Given the description of an element on the screen output the (x, y) to click on. 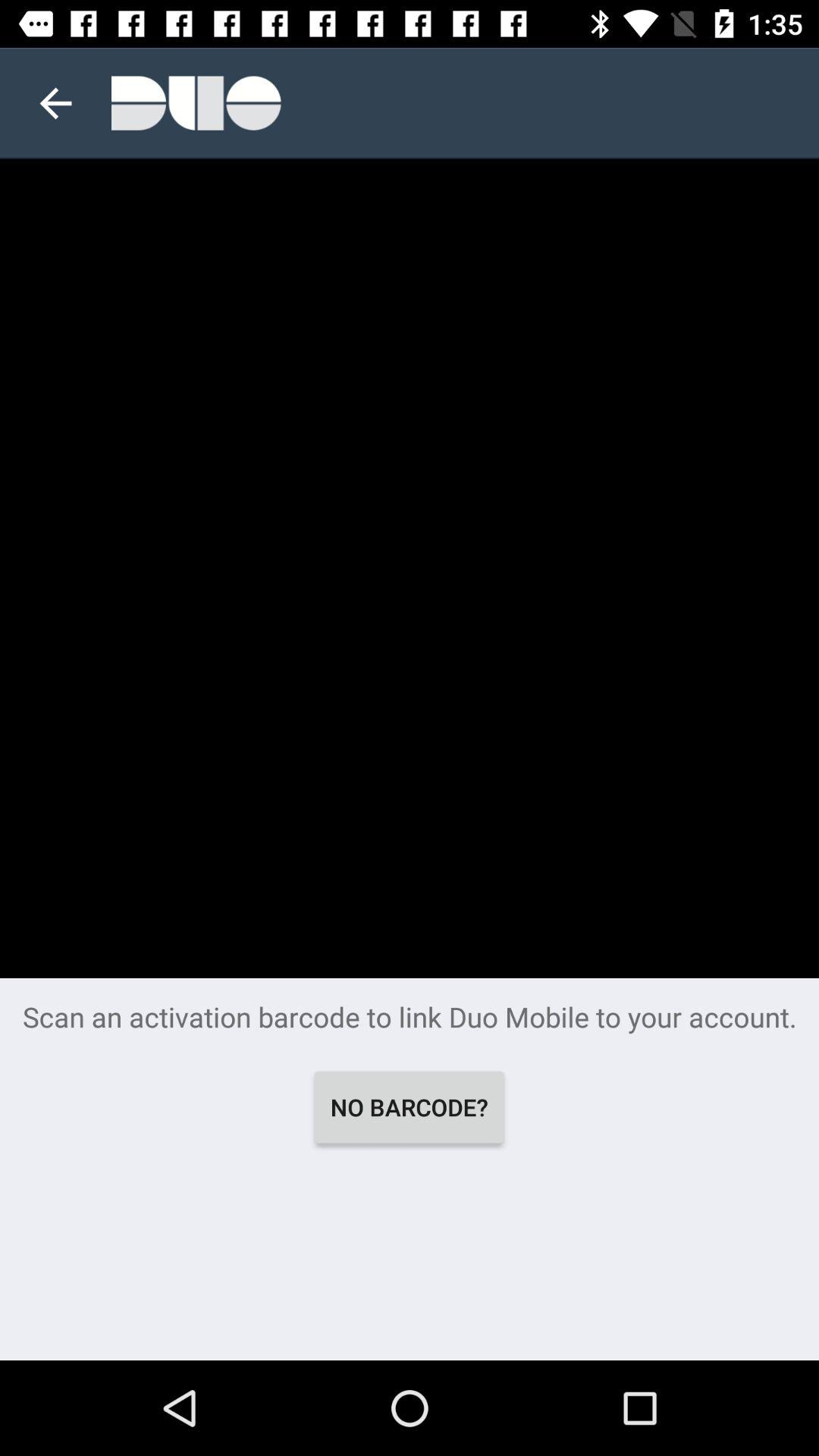
turn off no barcode? item (408, 1107)
